Given the description of an element on the screen output the (x, y) to click on. 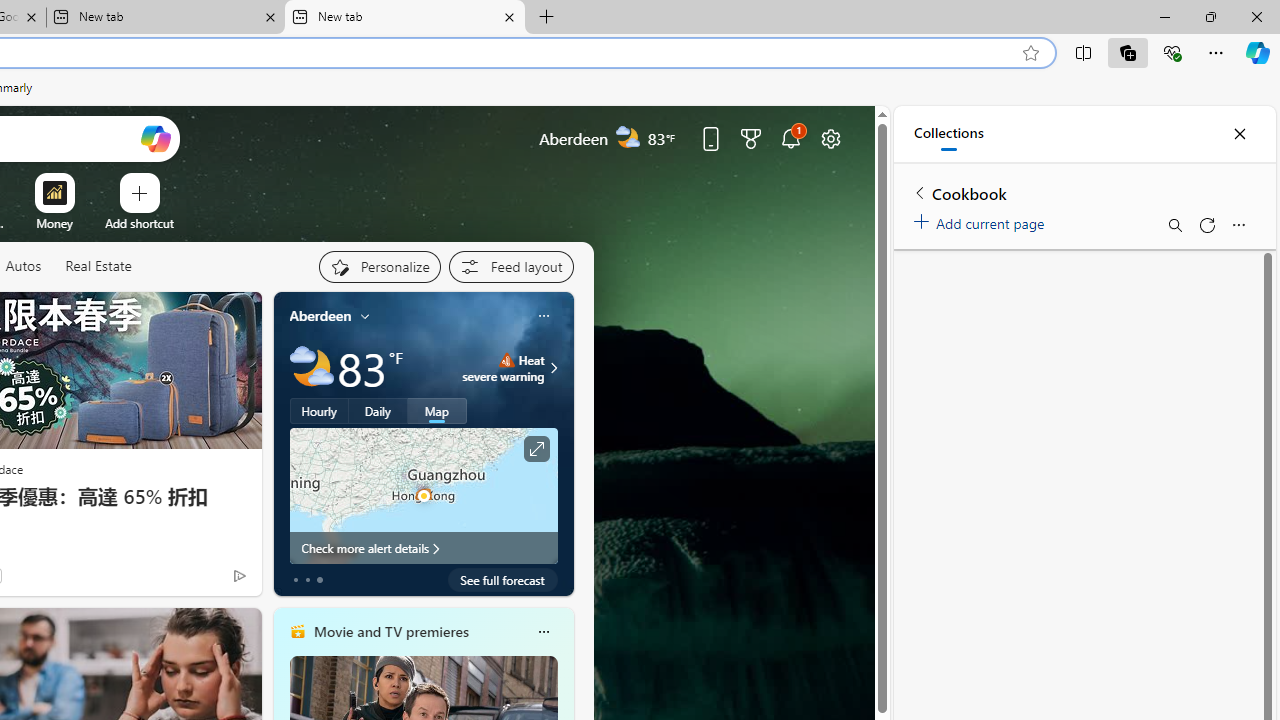
Aberdeen (320, 315)
Heat - Severe (505, 359)
Real Estate (97, 267)
My location (365, 315)
tab-2 (319, 579)
Click to see more information (536, 449)
tab-1 (306, 579)
Larger map  (423, 495)
Partly cloudy (311, 368)
